Given the description of an element on the screen output the (x, y) to click on. 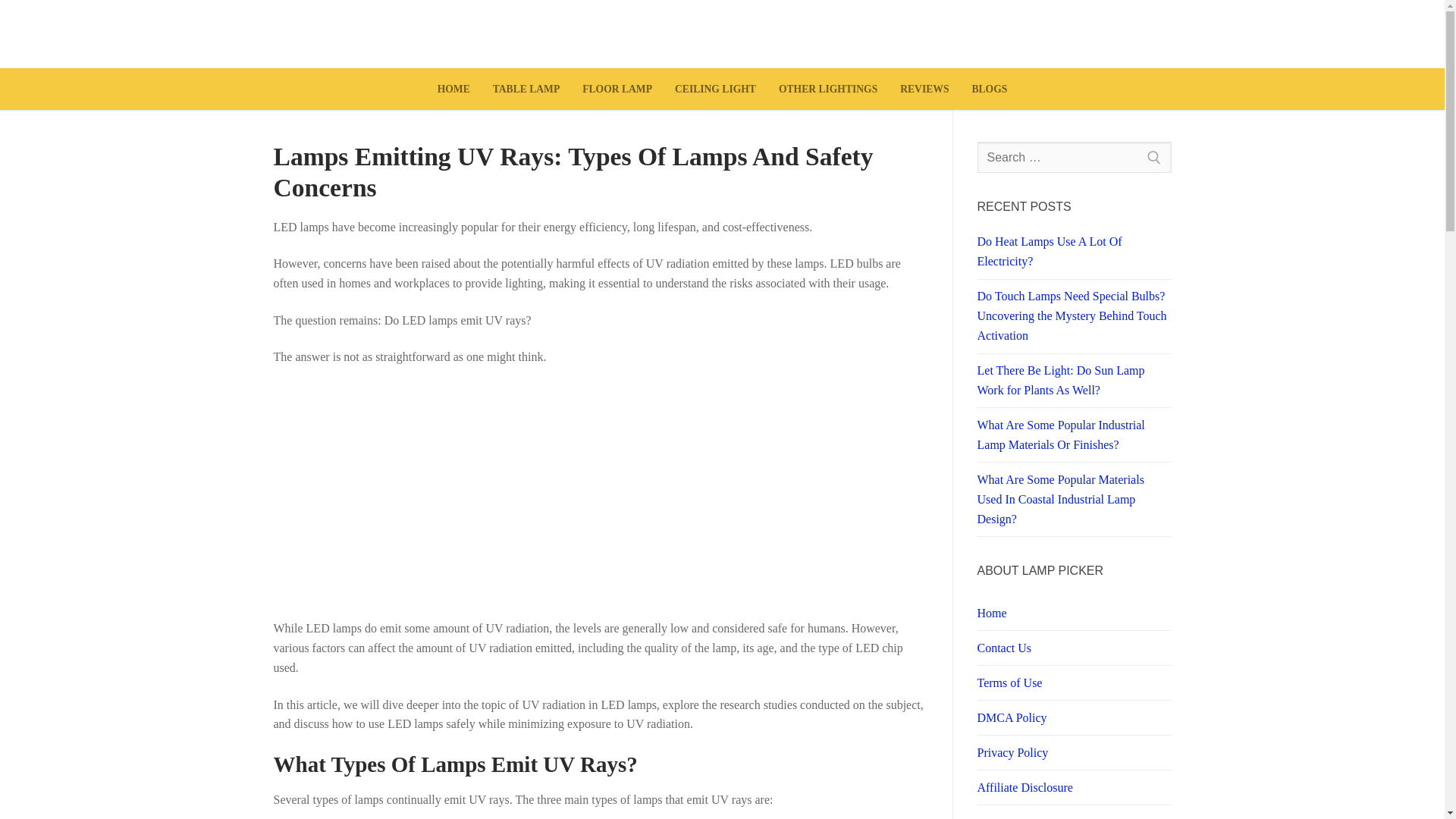
HOME (454, 89)
Let There Be Light: Do Sun Lamp Work for Plants As Well? (1073, 384)
FLOOR LAMP (617, 89)
Search for: (1073, 157)
BLOGS (988, 89)
Do Heat Lamps Use A Lot Of Electricity? (1073, 255)
OTHER LIGHTINGS (827, 89)
What Are Some Popular Industrial Lamp Materials Or Finishes? (1073, 438)
REVIEWS (923, 89)
